Given the description of an element on the screen output the (x, y) to click on. 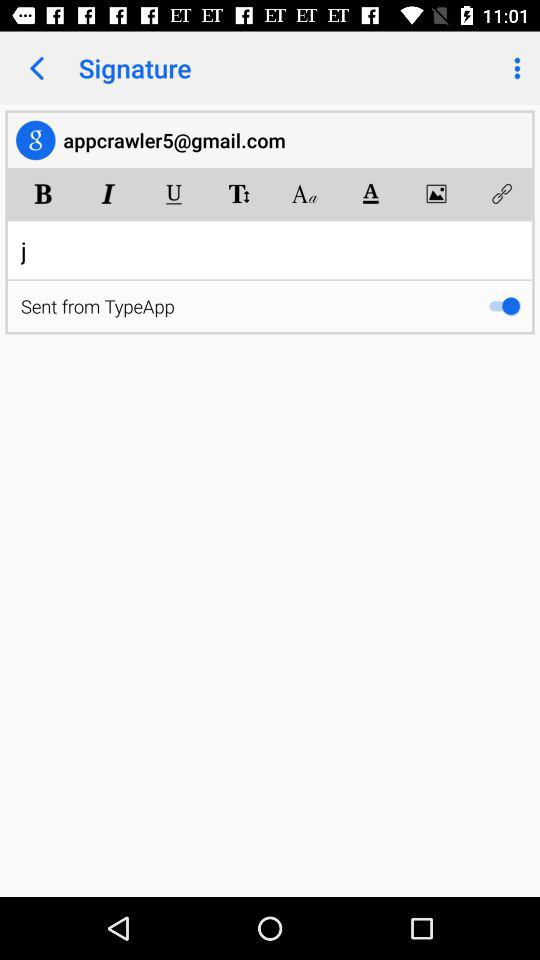
press app to the left of the signature icon (36, 68)
